Given the description of an element on the screen output the (x, y) to click on. 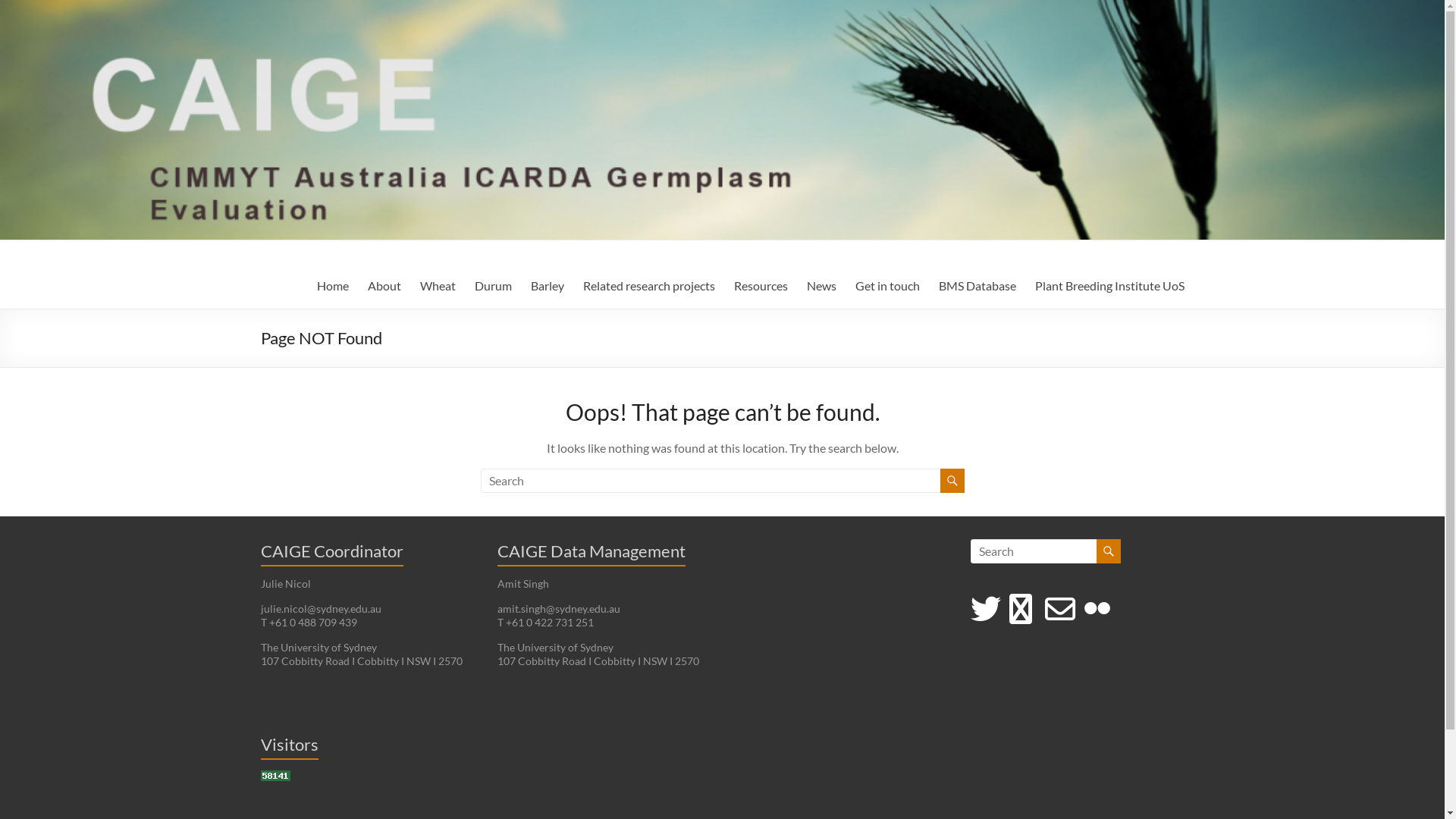
Wheat Element type: text (437, 285)
About Element type: text (383, 285)
Related research projects Element type: text (648, 285)
CAIGE Element type: text (301, 272)
Get in touch Element type: text (887, 285)
Resources Element type: text (760, 285)
News Element type: text (821, 285)
Durum Element type: text (492, 285)
Plant Breeding Institute UoS Element type: text (1108, 285)
Barley Element type: text (547, 285)
BMS Database Element type: text (977, 285)
Home Element type: text (332, 285)
